Given the description of an element on the screen output the (x, y) to click on. 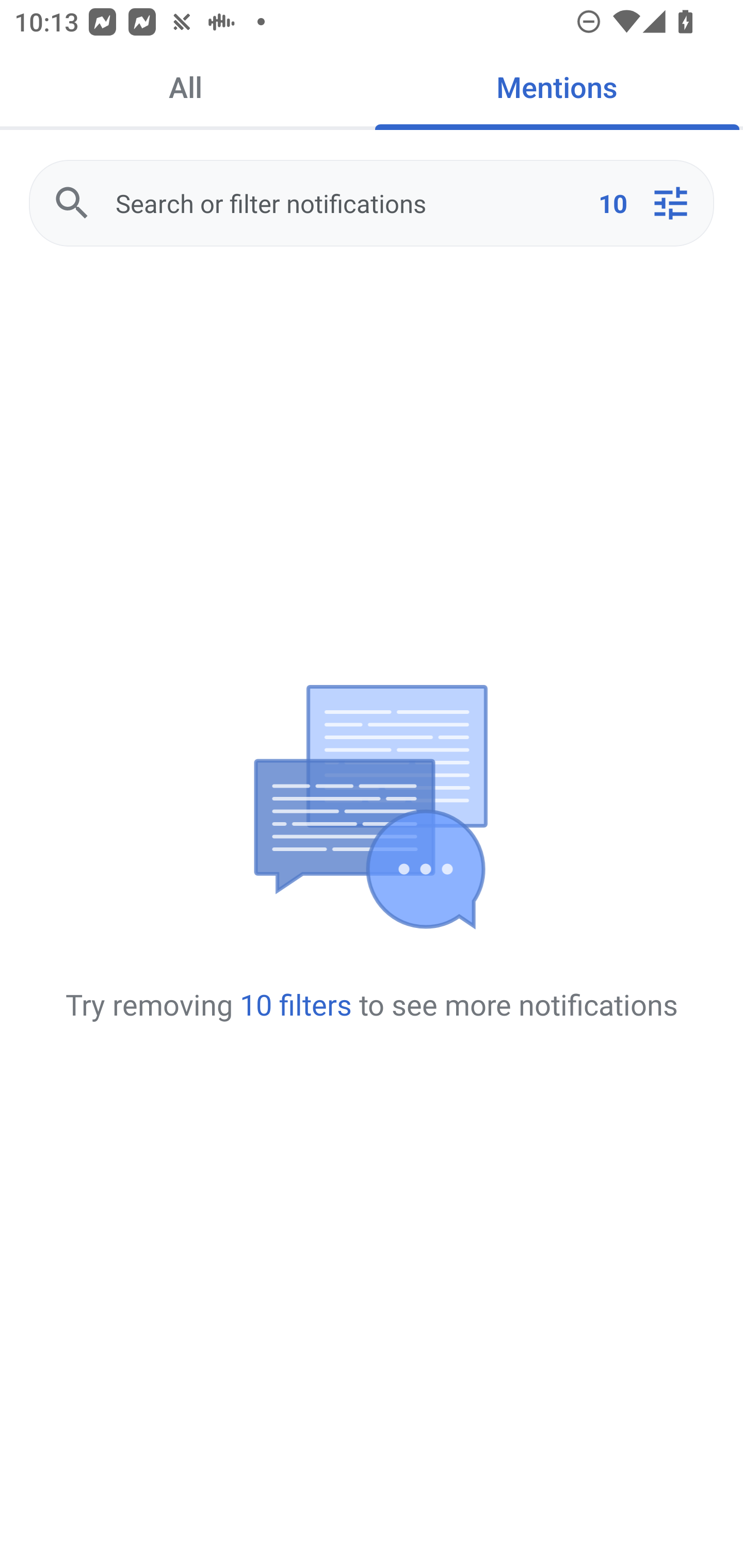
All (185, 86)
Notification filter (670, 202)
